Given the description of an element on the screen output the (x, y) to click on. 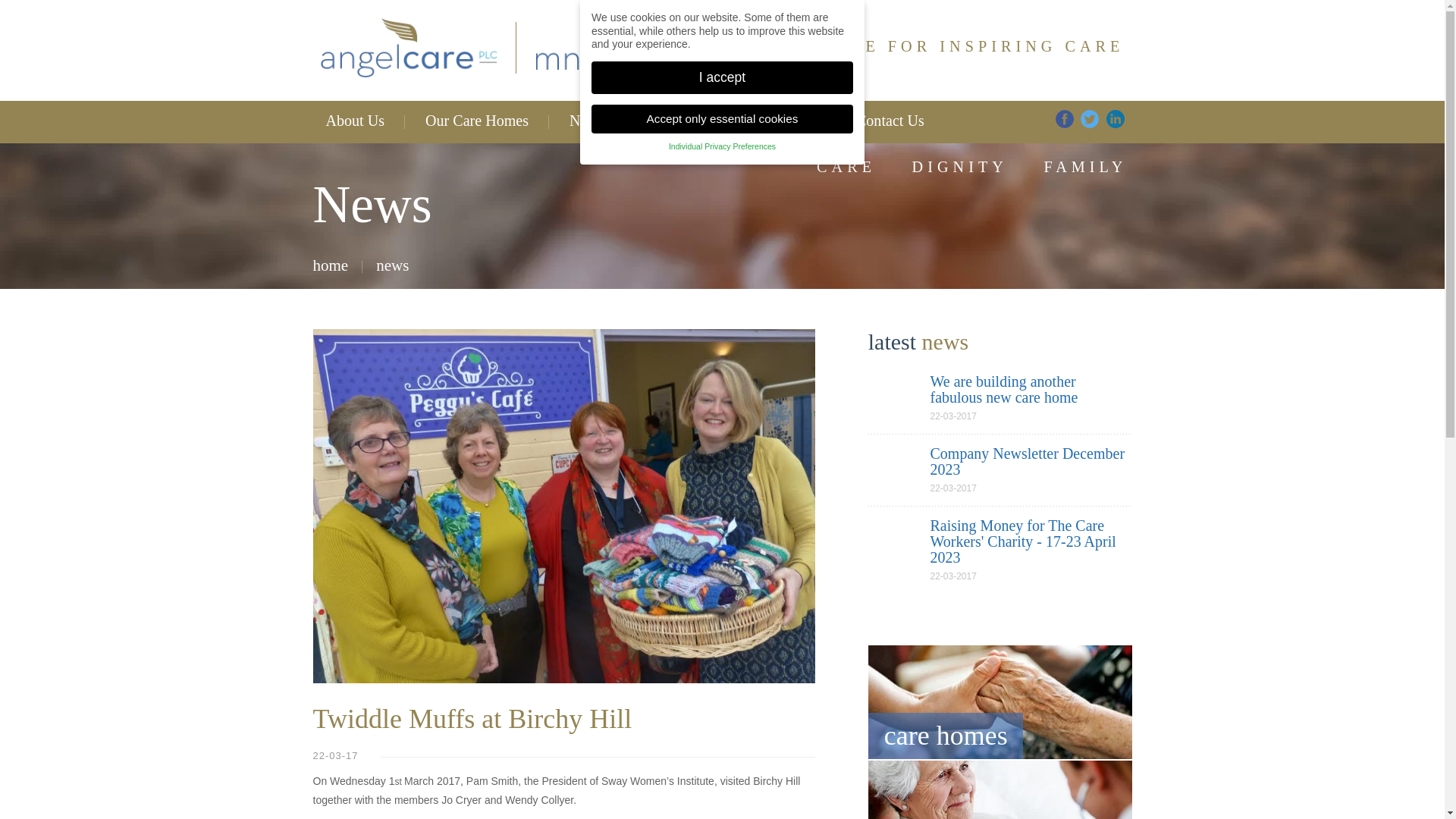
DIGNITY (959, 166)
news (392, 265)
We are building another fabulous new care home (1003, 389)
Contact Us (889, 121)
Work With Us (770, 121)
CARE (846, 166)
We are building another fabulous new care home (1003, 389)
About Us (354, 121)
FAMILY (1084, 166)
vision (999, 789)
Home (330, 265)
News (586, 121)
home (330, 265)
